Given the description of an element on the screen output the (x, y) to click on. 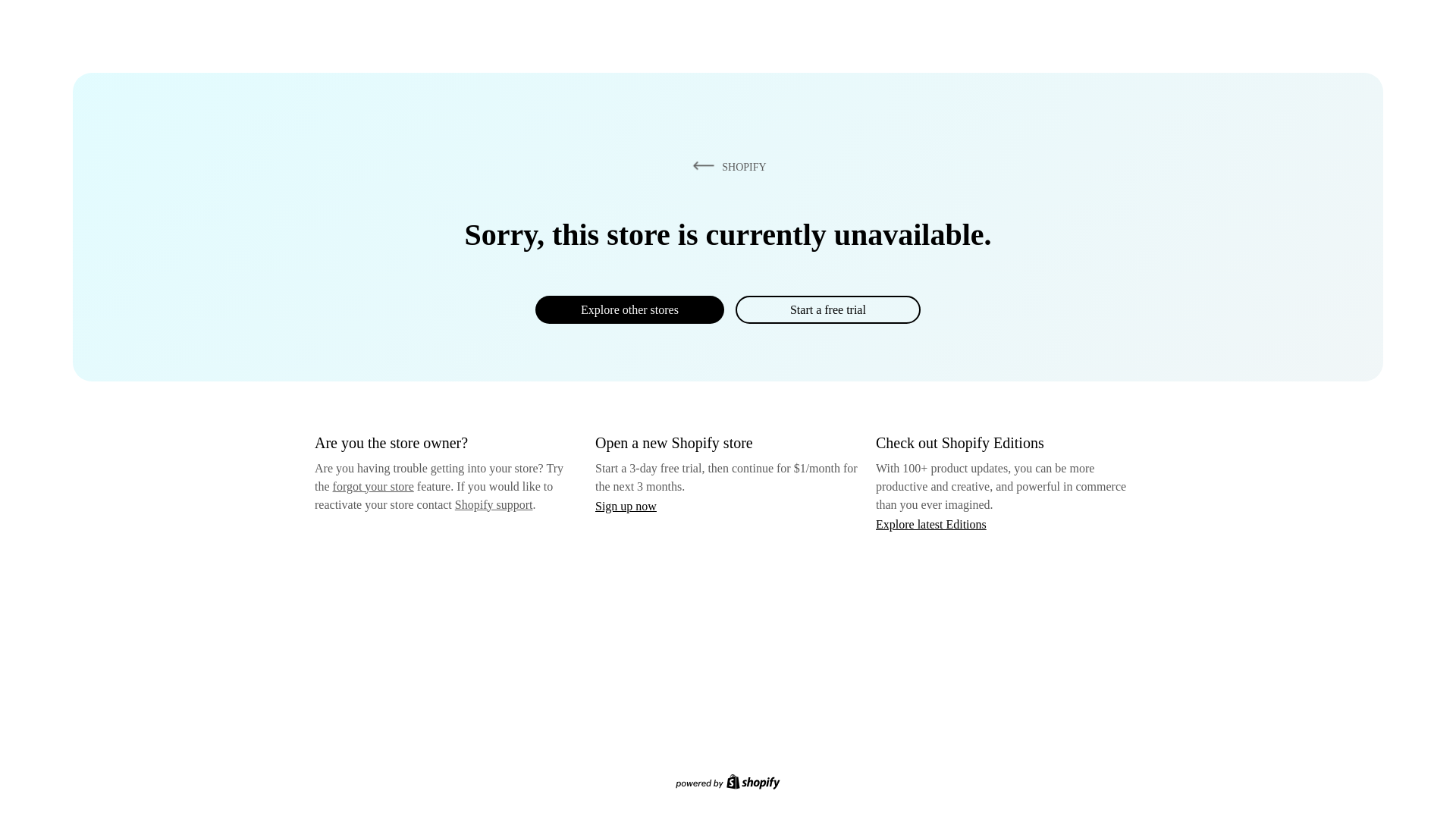
forgot your store (373, 486)
Explore latest Editions (931, 523)
Shopify support (493, 504)
Sign up now (625, 505)
Start a free trial (827, 309)
SHOPIFY (726, 166)
Explore other stores (629, 309)
